Given the description of an element on the screen output the (x, y) to click on. 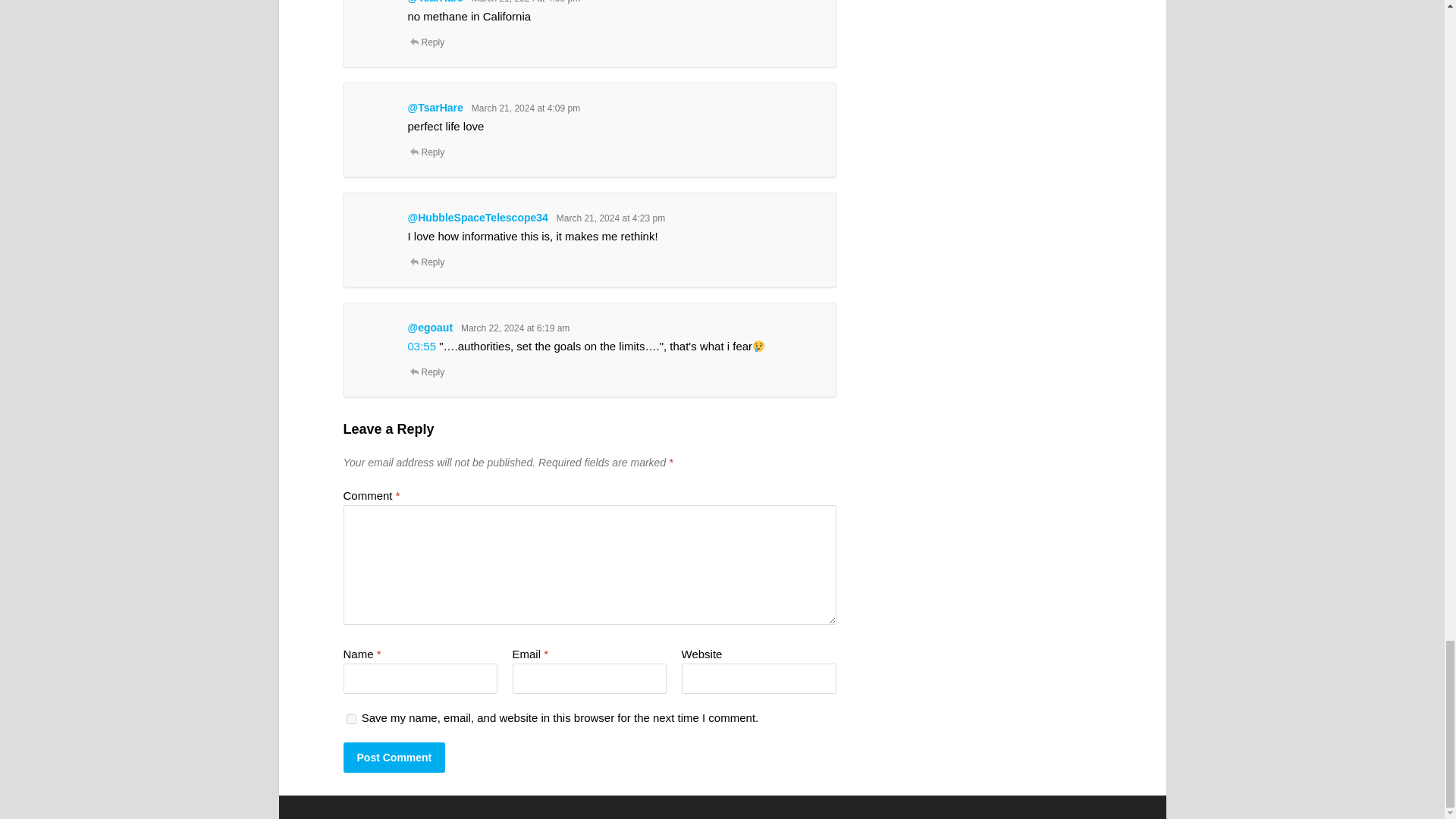
yes (350, 718)
Post Comment (393, 757)
